Given the description of an element on the screen output the (x, y) to click on. 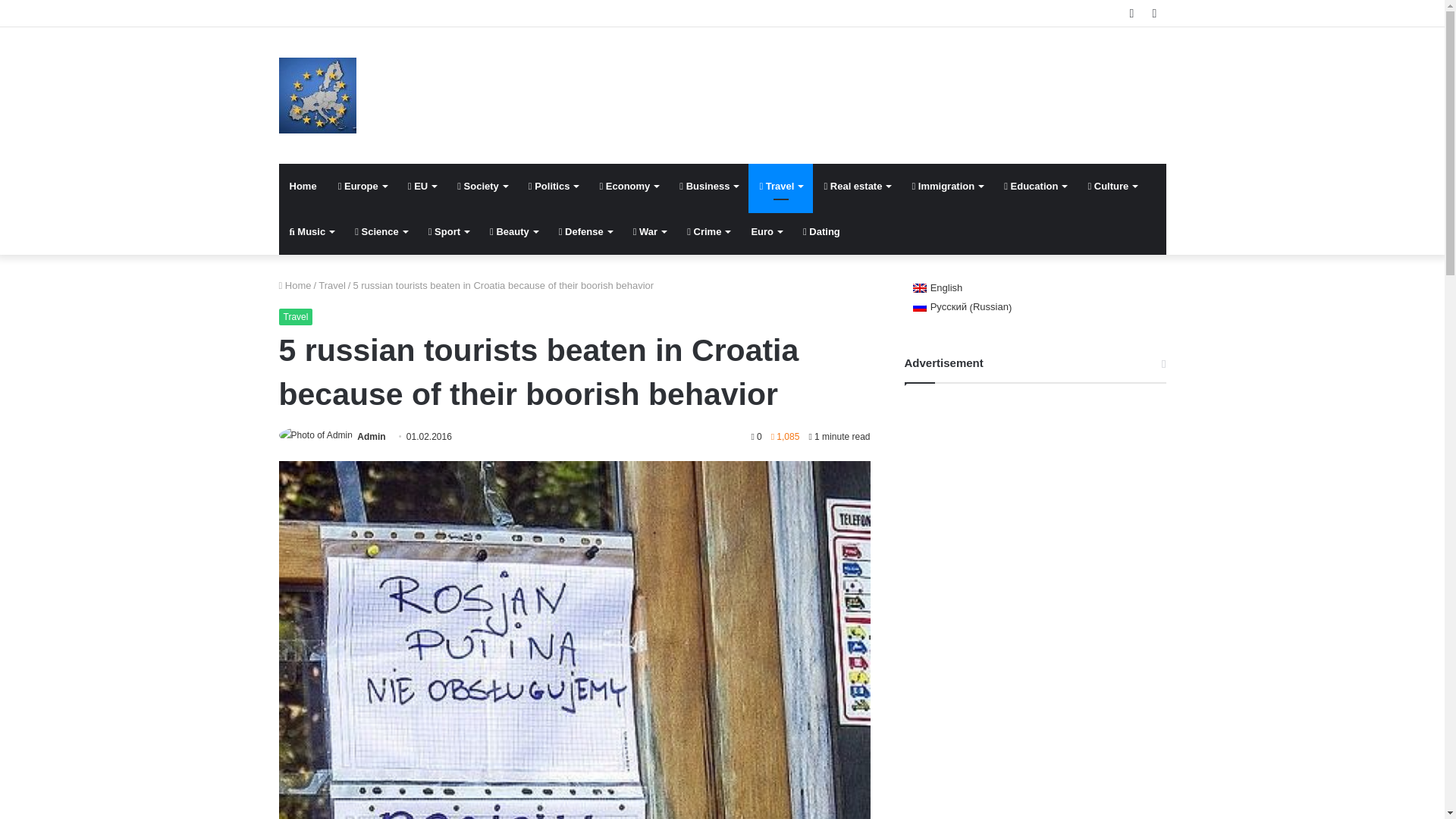
War (650, 231)
Society (482, 186)
Politics (553, 186)
Europe (317, 95)
Business (708, 186)
Euro (765, 231)
Crime (708, 231)
Dating (821, 231)
Defense (585, 231)
EU (421, 186)
